Given the description of an element on the screen output the (x, y) to click on. 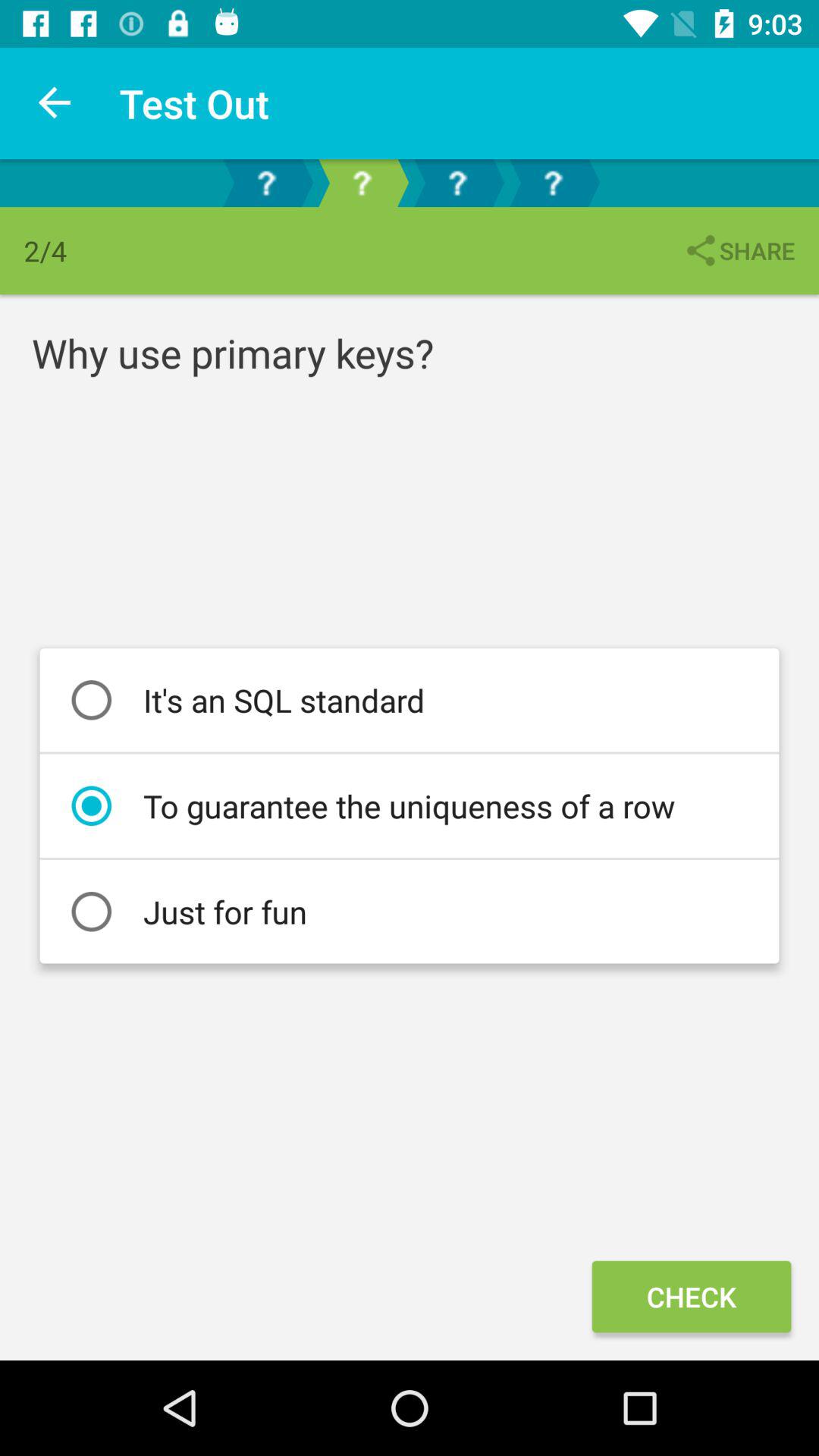
go to question (552, 183)
